Given the description of an element on the screen output the (x, y) to click on. 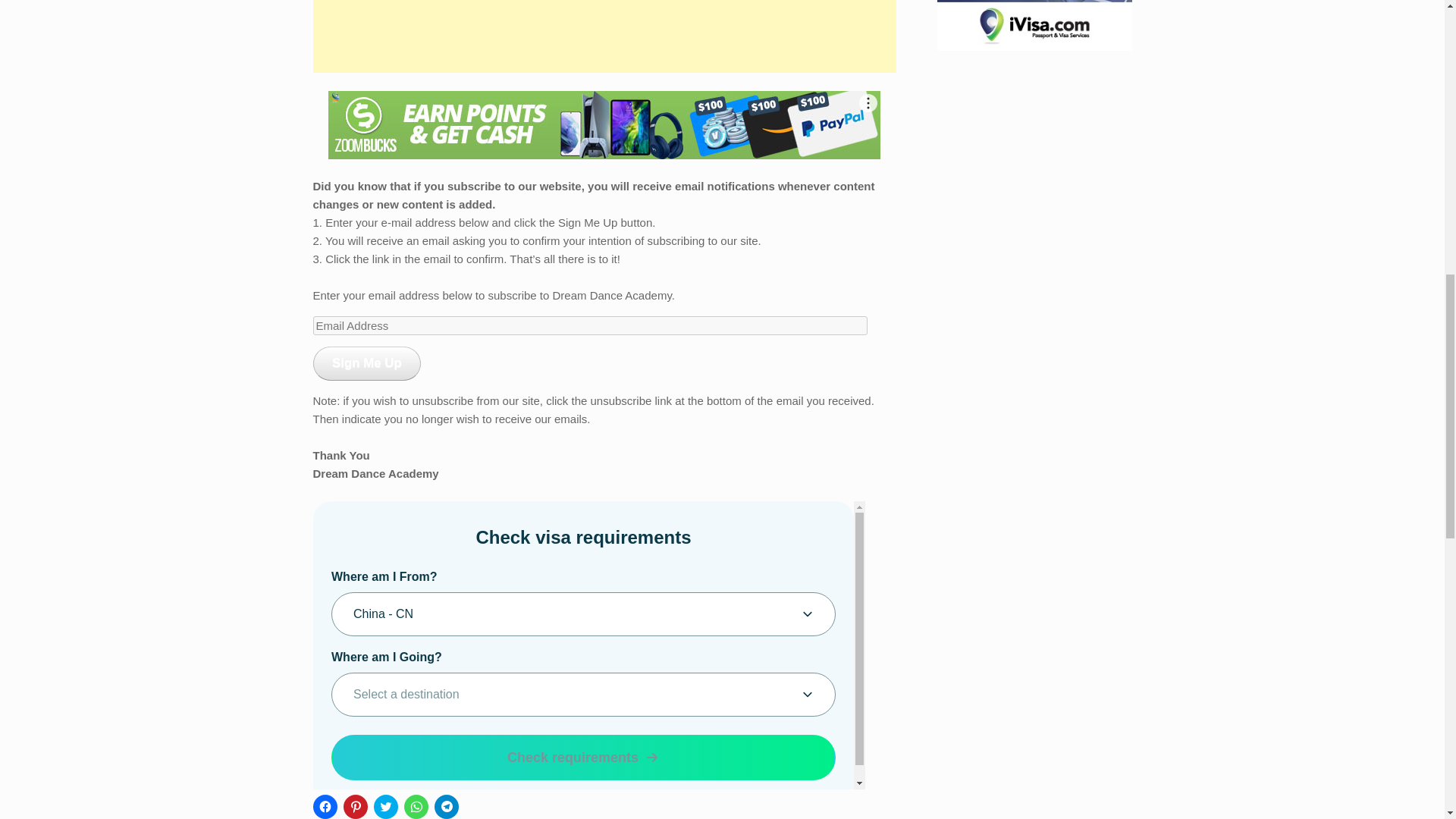
Click to share on Pinterest (354, 806)
Click to share on Telegram (445, 806)
Sign Me Up (366, 363)
Click to share on WhatsApp (415, 806)
Click to share on Twitter (384, 806)
Click to share on Facebook (324, 806)
Advertisement (604, 36)
